Given the description of an element on the screen output the (x, y) to click on. 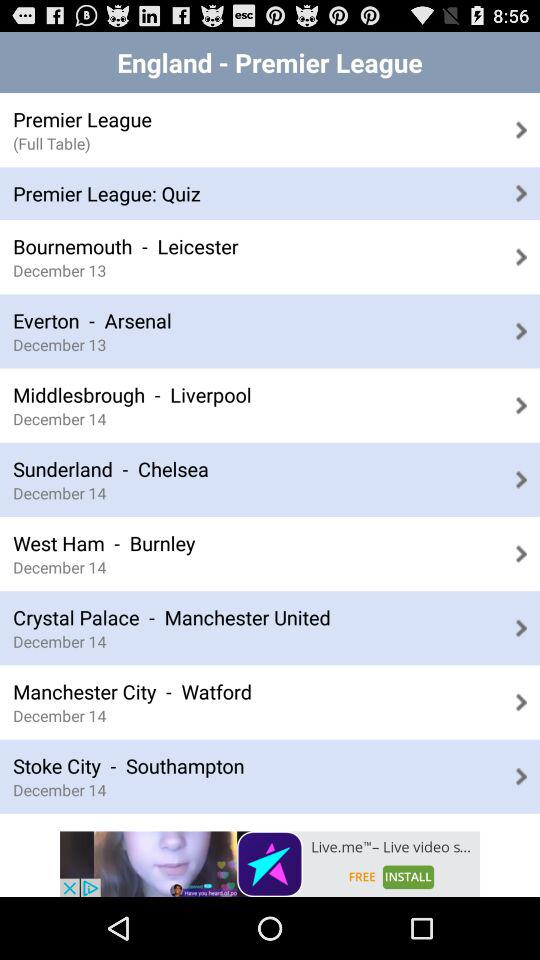
click advertisement (270, 864)
